Given the description of an element on the screen output the (x, y) to click on. 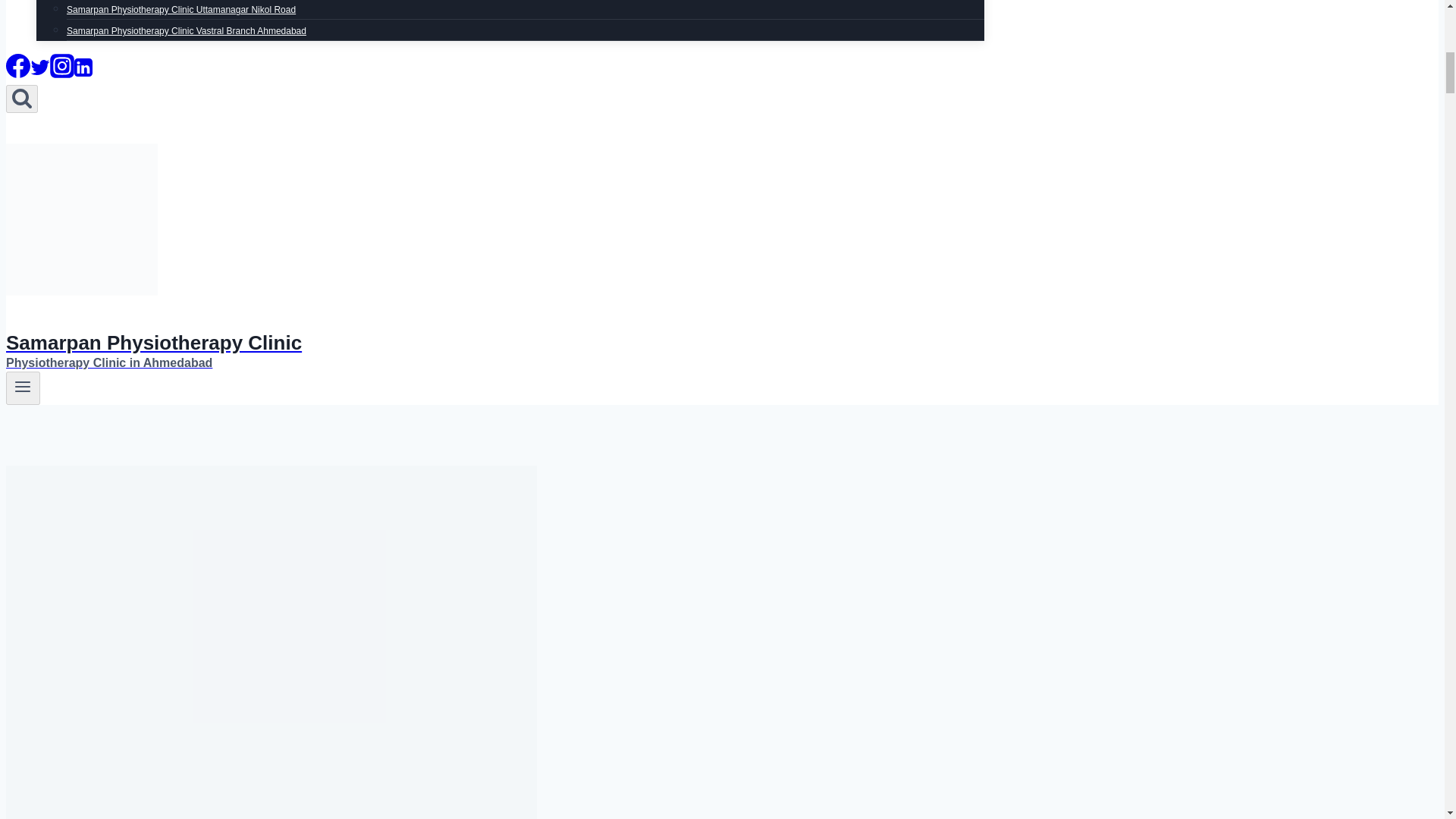
Linkedin (83, 73)
Search (21, 99)
Facebook (17, 73)
Instagram (61, 73)
Samarpan Physiotherapy Clinic Uttamanagar Nikol Road (180, 12)
Samarpan Physiotherapy Clinic Vastral Branch Ahmedabad (185, 30)
Facebook (17, 65)
Toggle Menu (22, 386)
Search (21, 97)
Physiotherapy Clinic Near Rabari Colony Char Rasta (172, 1)
Twitter (39, 73)
Toggle Menu (22, 387)
Instagram (61, 65)
Twitter (39, 66)
